Given the description of an element on the screen output the (x, y) to click on. 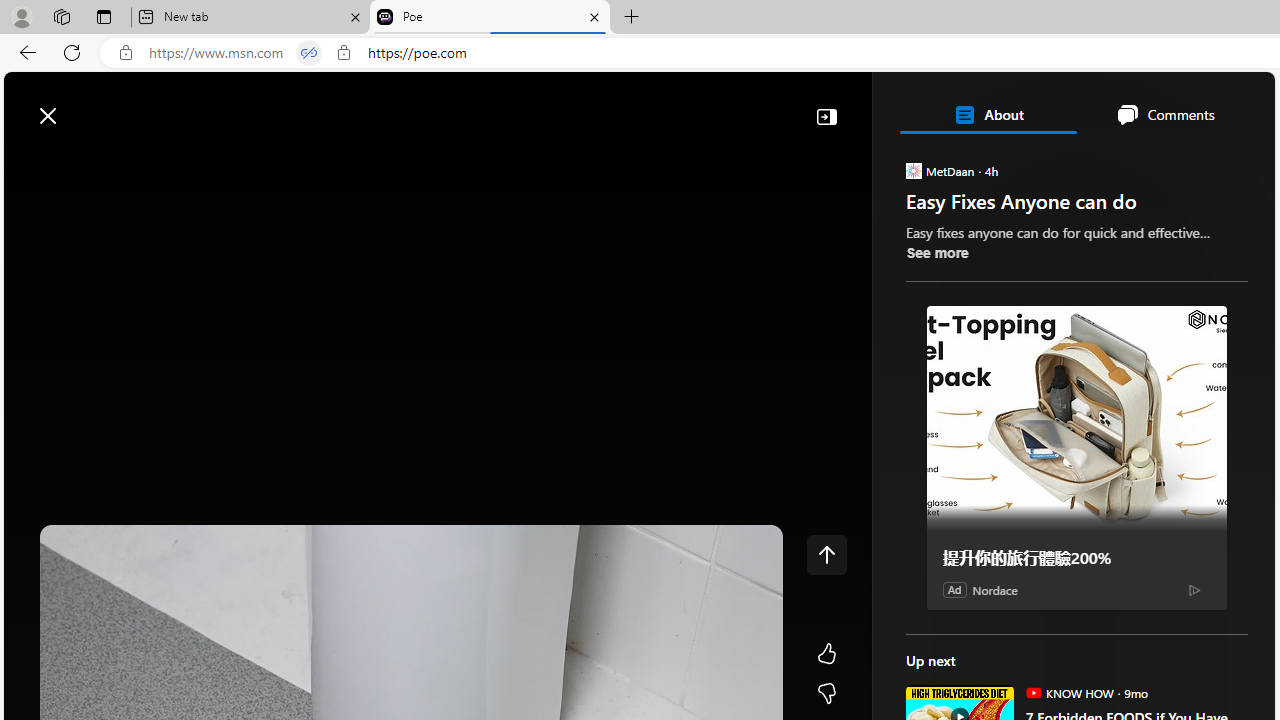
Tabs in split screen (308, 53)
Class: control icon-only (826, 554)
Enter your search term (644, 106)
